Given the description of an element on the screen output the (x, y) to click on. 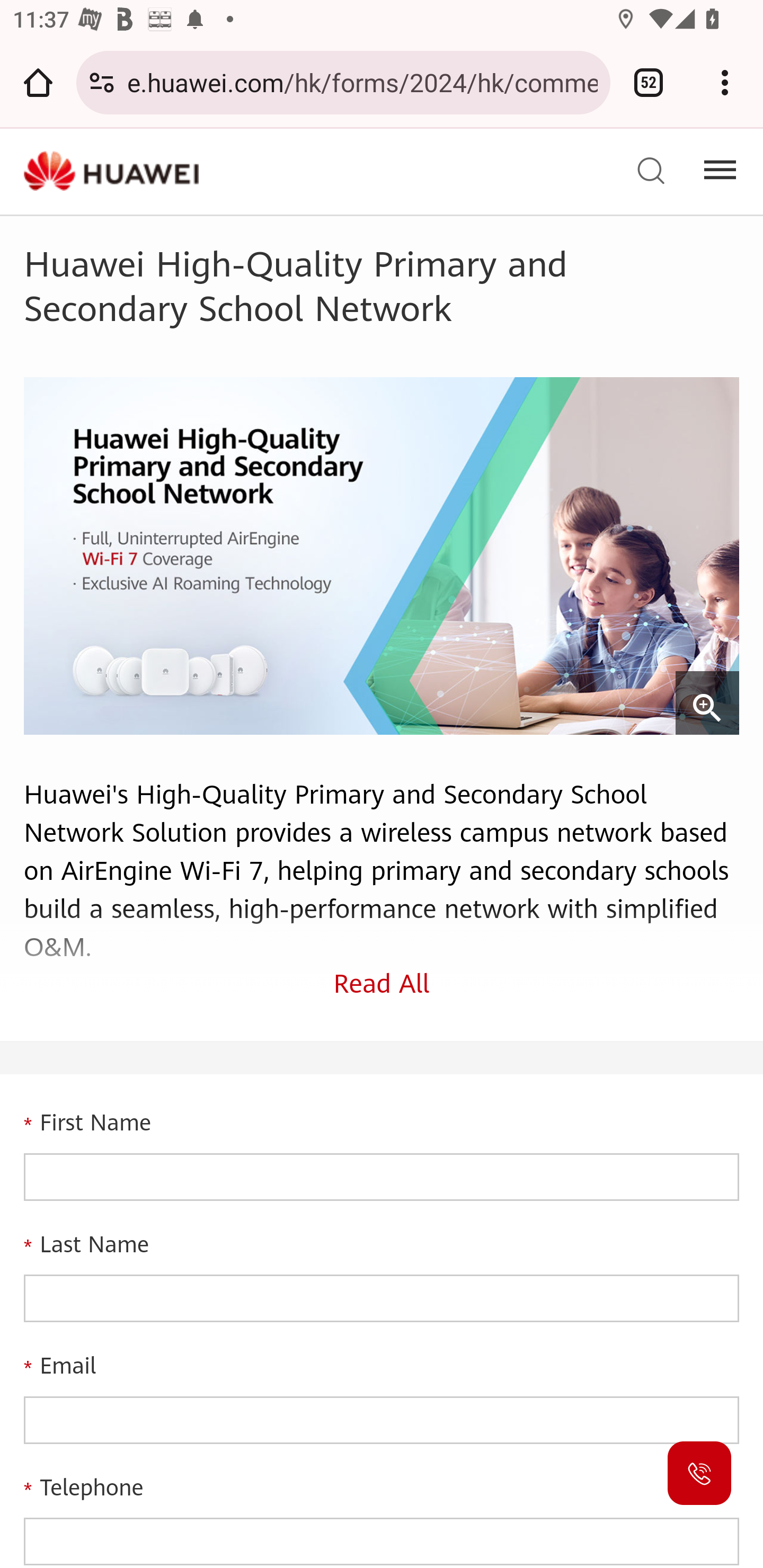
Open the home page (38, 82)
Connection is secure (101, 82)
Switch or close tabs (648, 82)
Customize and control Google Chrome (724, 82)
